Given the description of an element on the screen output the (x, y) to click on. 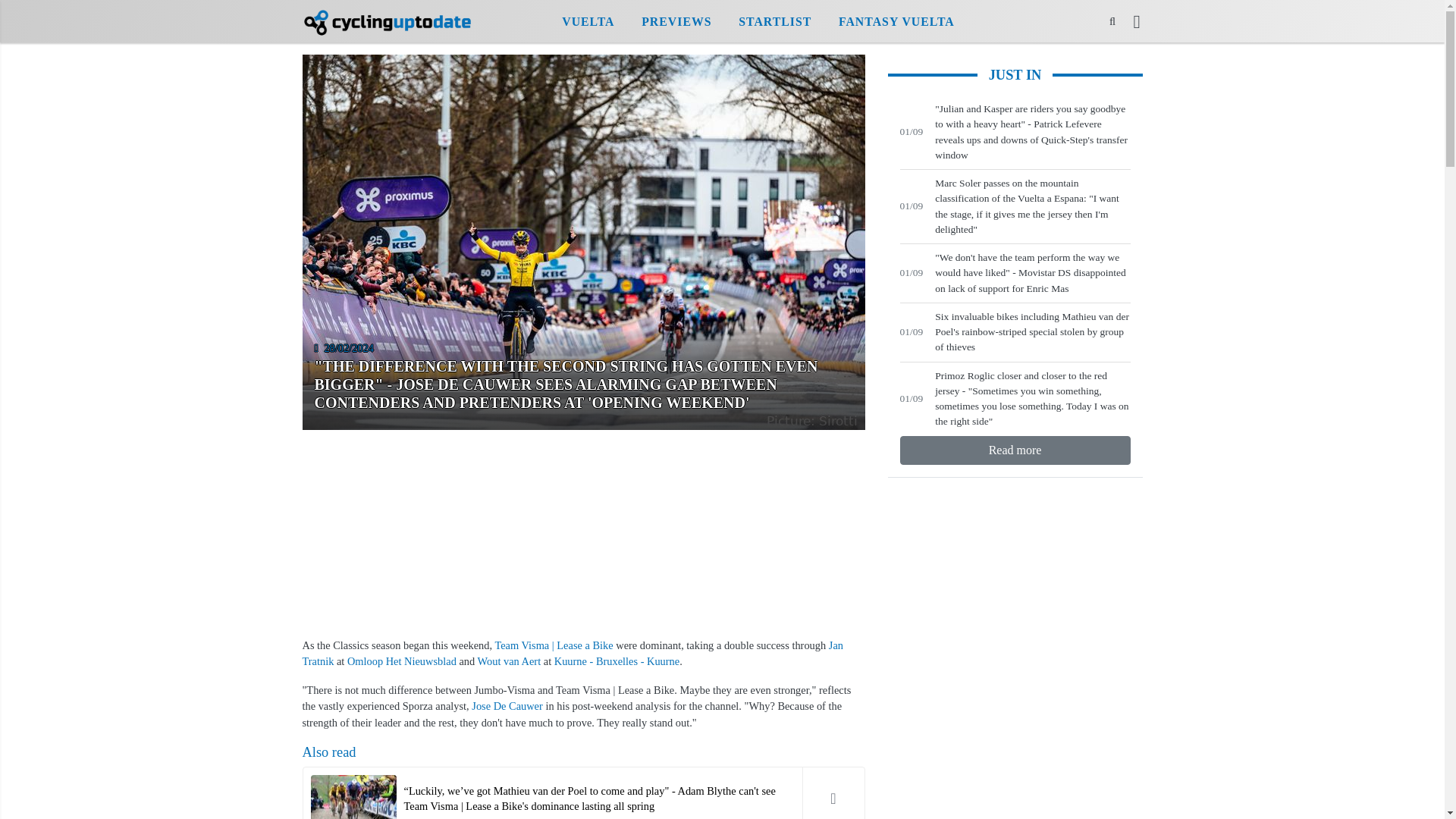
homepage (387, 21)
Jose De Cauwer (507, 705)
Jan Tratnik (572, 653)
Omloop Het Nieuwsblad (402, 661)
Kuurne - Bruxelles - Kuurne (616, 661)
Jan Tratnik (572, 653)
FANTASY VUELTA (896, 22)
STARTLIST (758, 20)
PREVIEWS (775, 22)
